Given the description of an element on the screen output the (x, y) to click on. 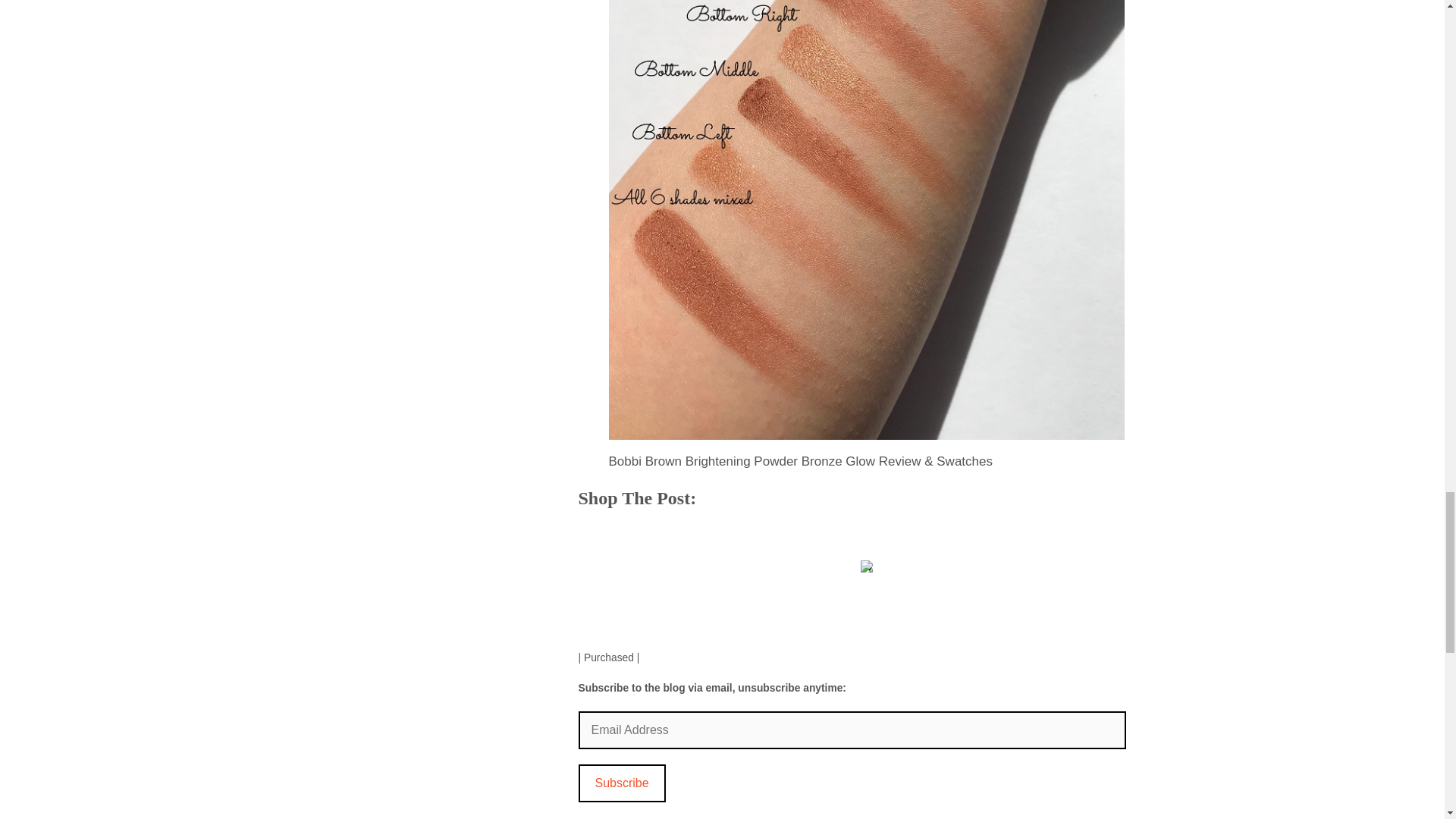
Subscribe (621, 783)
